Given the description of an element on the screen output the (x, y) to click on. 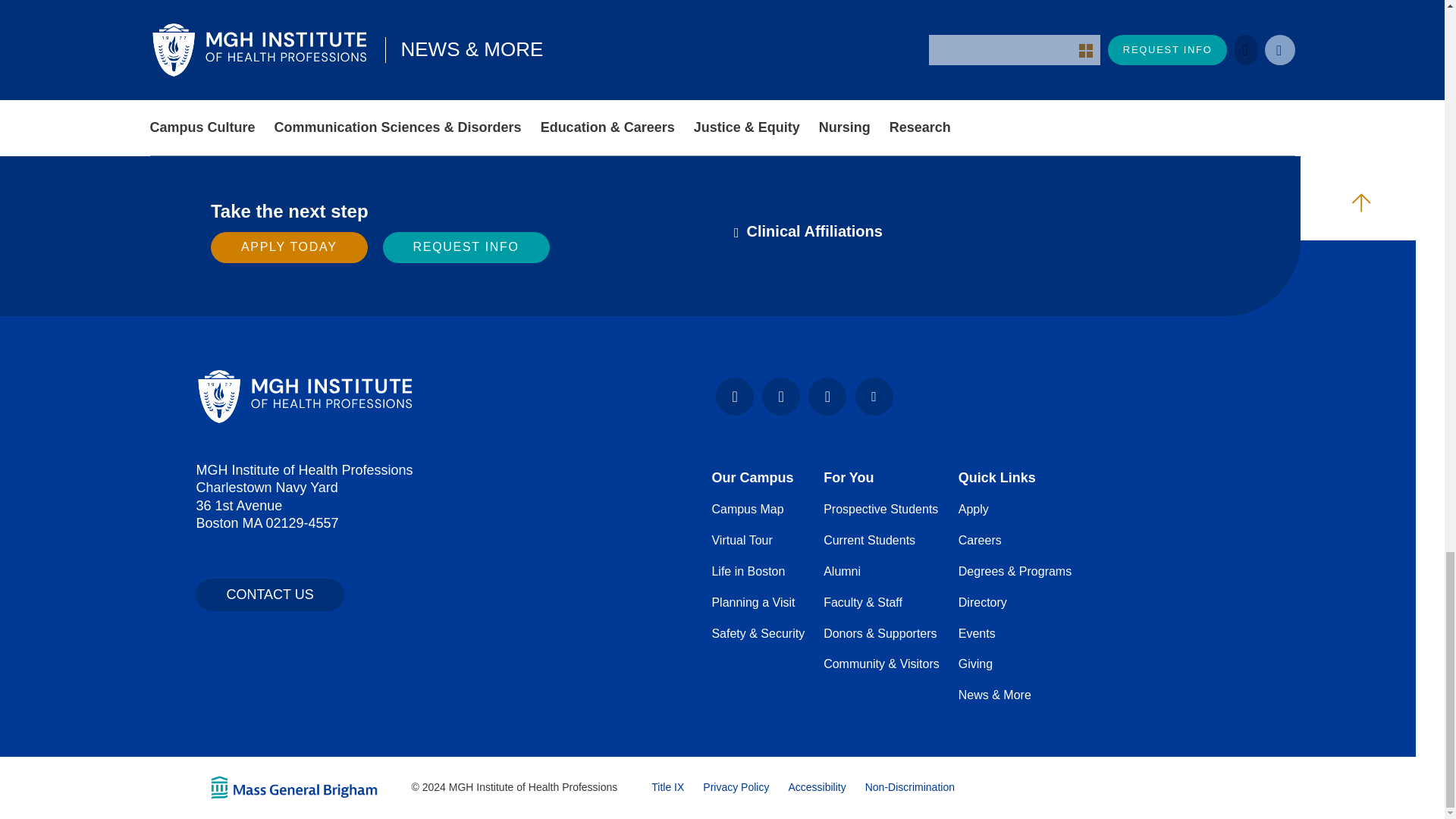
MGH IHP (304, 395)
LinkedIn (826, 396)
Twitter (874, 396)
Planning a Visit (752, 602)
APPLY TODAY (289, 246)
Virtual Tour (741, 540)
Life in Boston (747, 571)
let us know (1080, 43)
Clinical Affiliations (807, 230)
Campus Map (747, 508)
